Given the description of an element on the screen output the (x, y) to click on. 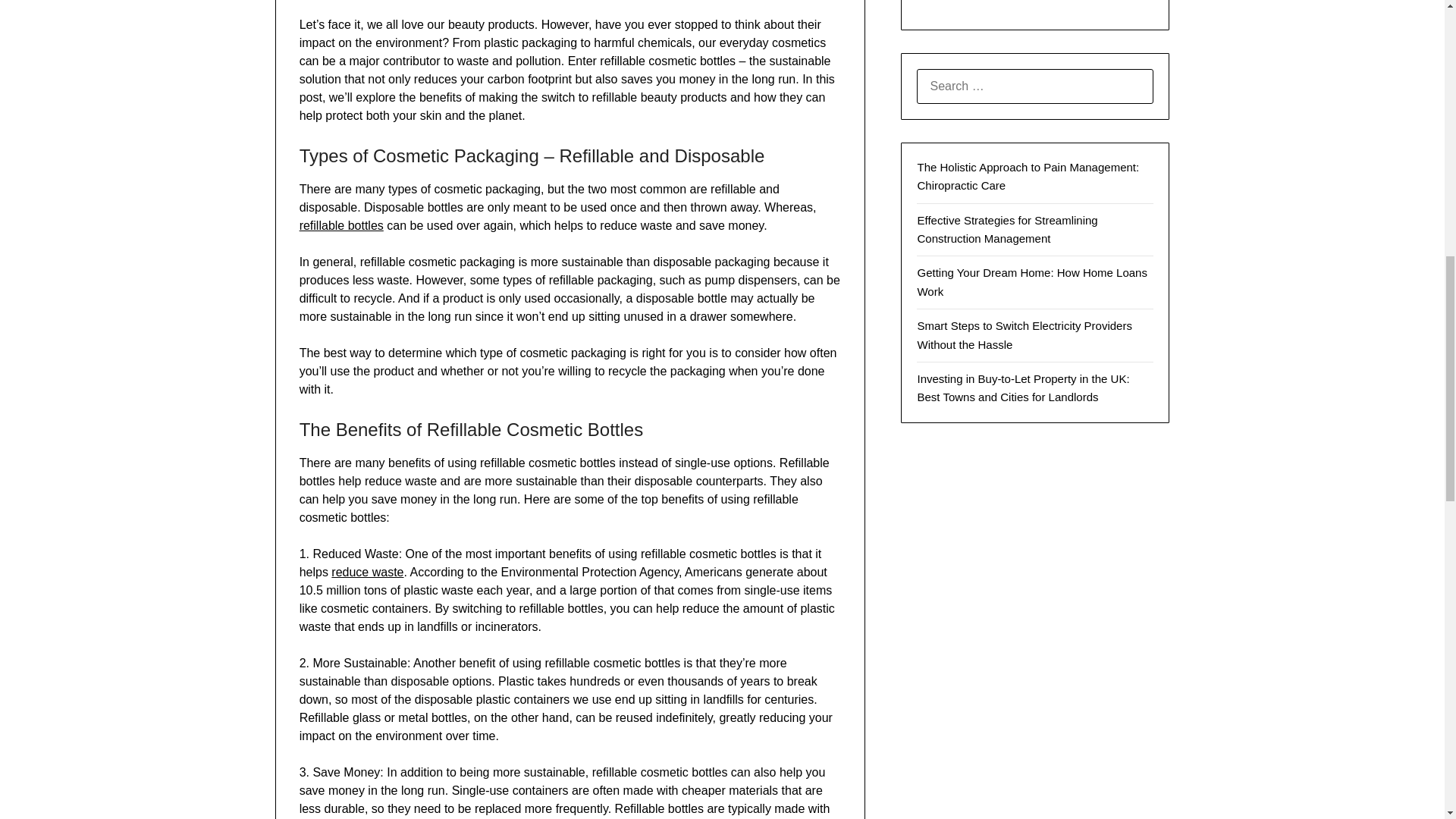
refillable bottles (341, 225)
The Holistic Approach to Pain Management: Chiropractic Care (1027, 175)
Getting Your Dream Home: How Home Loans Work (1032, 281)
reduce waste (367, 571)
